Given the description of an element on the screen output the (x, y) to click on. 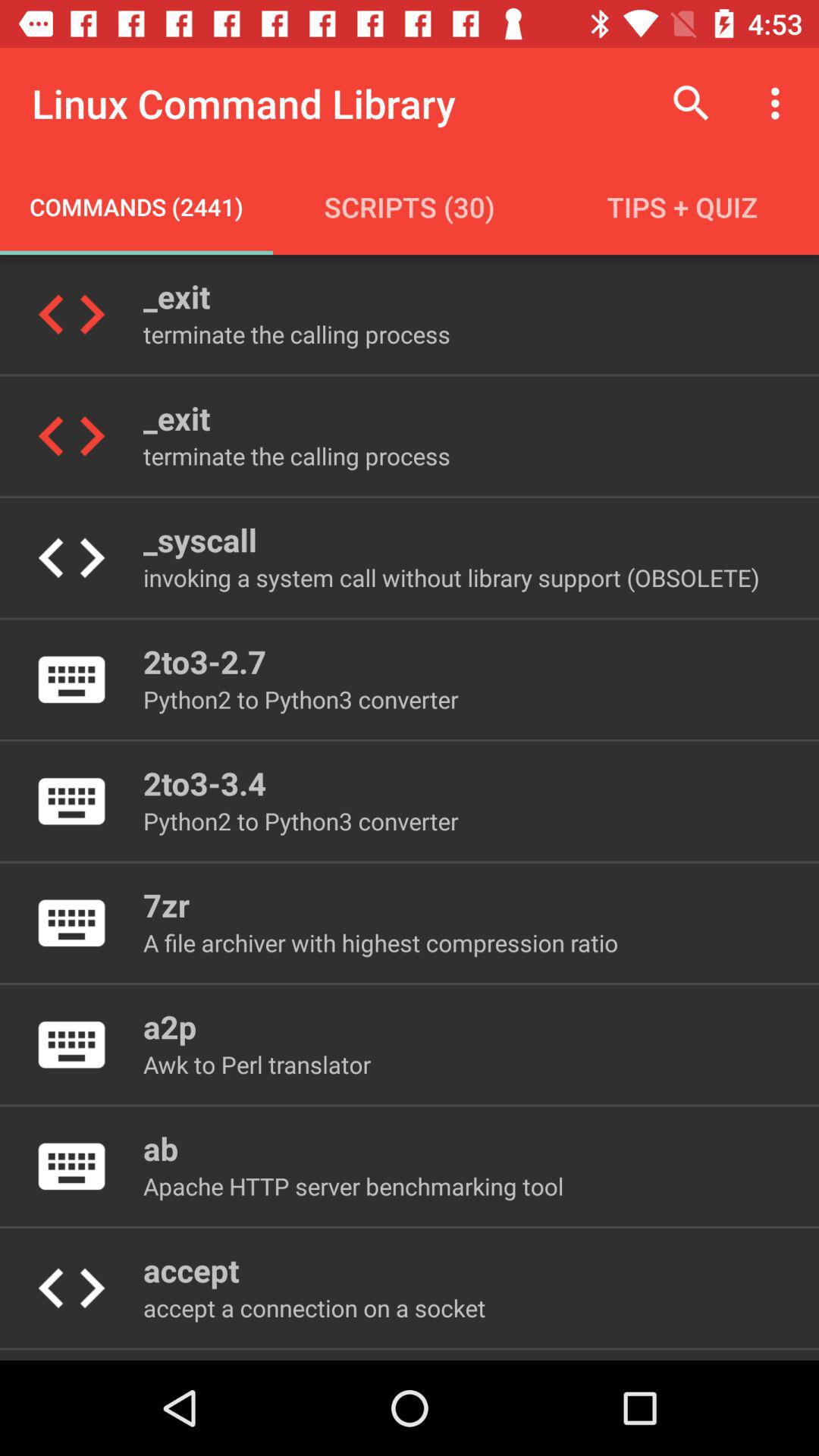
select the icon above the a file archiver icon (166, 904)
